Given the description of an element on the screen output the (x, y) to click on. 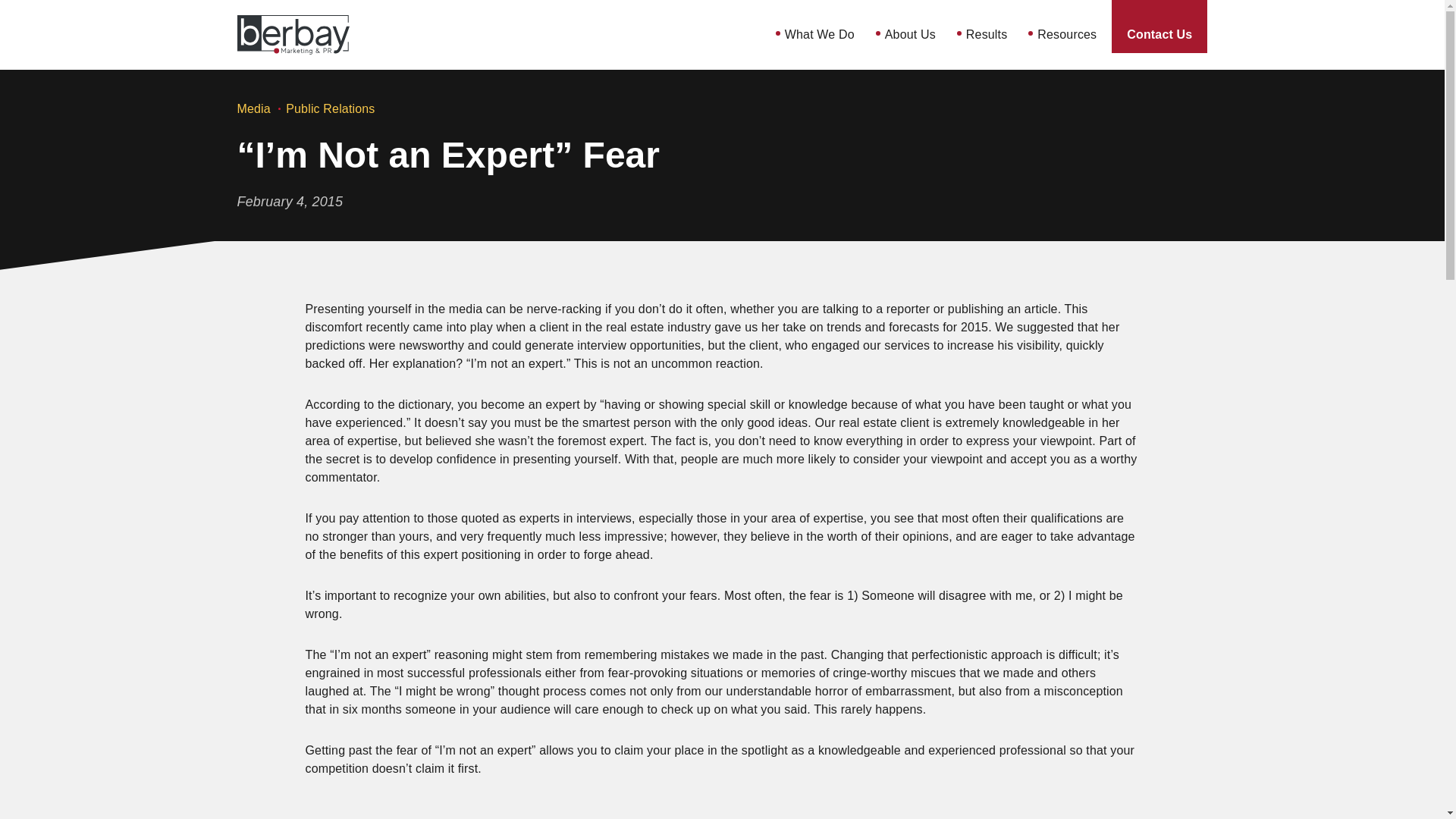
What We Do (819, 34)
About Us (909, 34)
